Given the description of an element on the screen output the (x, y) to click on. 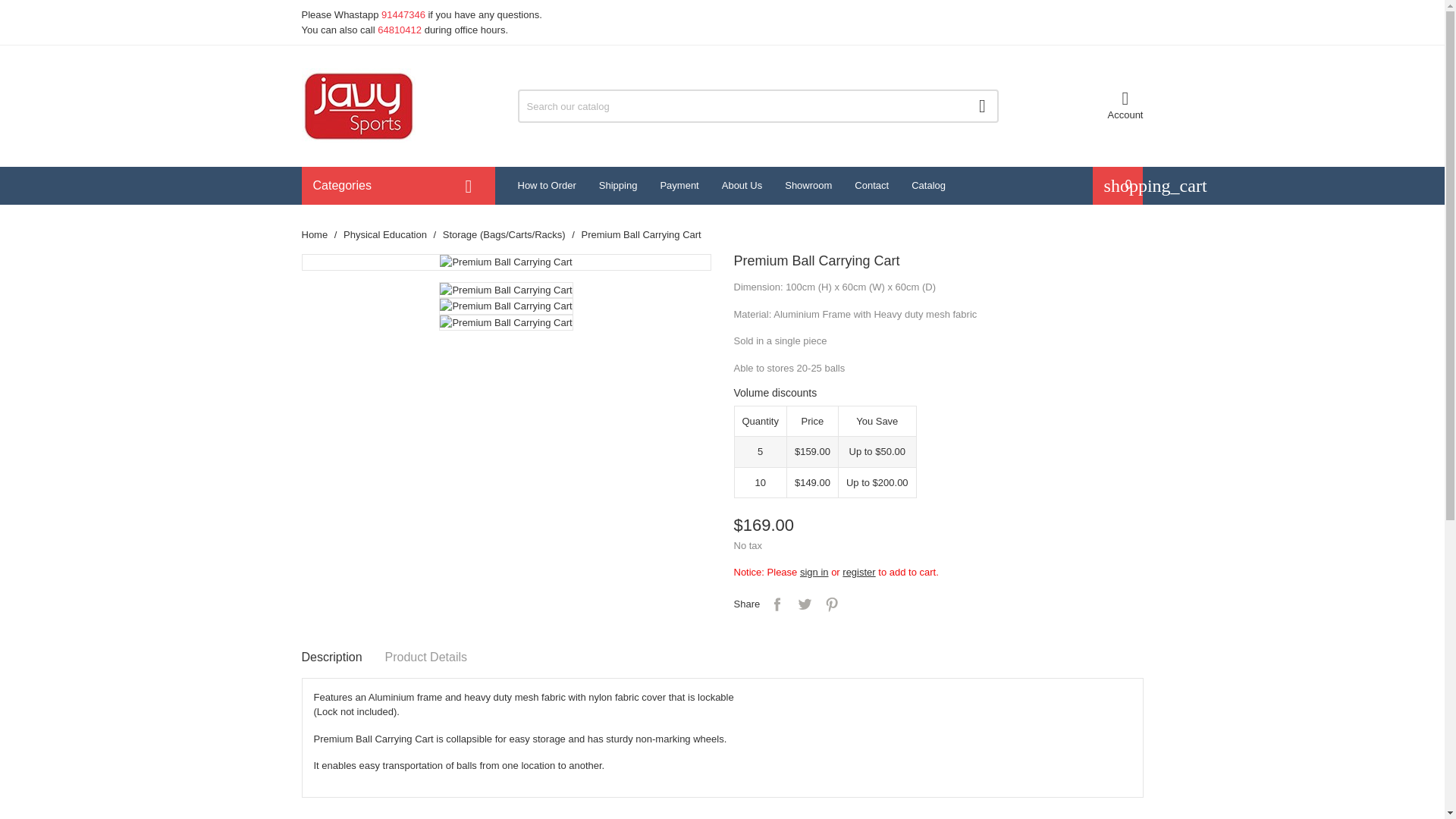
Tweet (803, 604)
Premium Ball Carrying Cart (505, 262)
Share1 (777, 604)
Premium Ball Carrying Cart (505, 306)
64810412 (399, 30)
Pinterest (831, 604)
91447346 (403, 14)
Premium Ball Carrying Cart (505, 322)
Premium Ball Carrying Cart (505, 289)
